Given the description of an element on the screen output the (x, y) to click on. 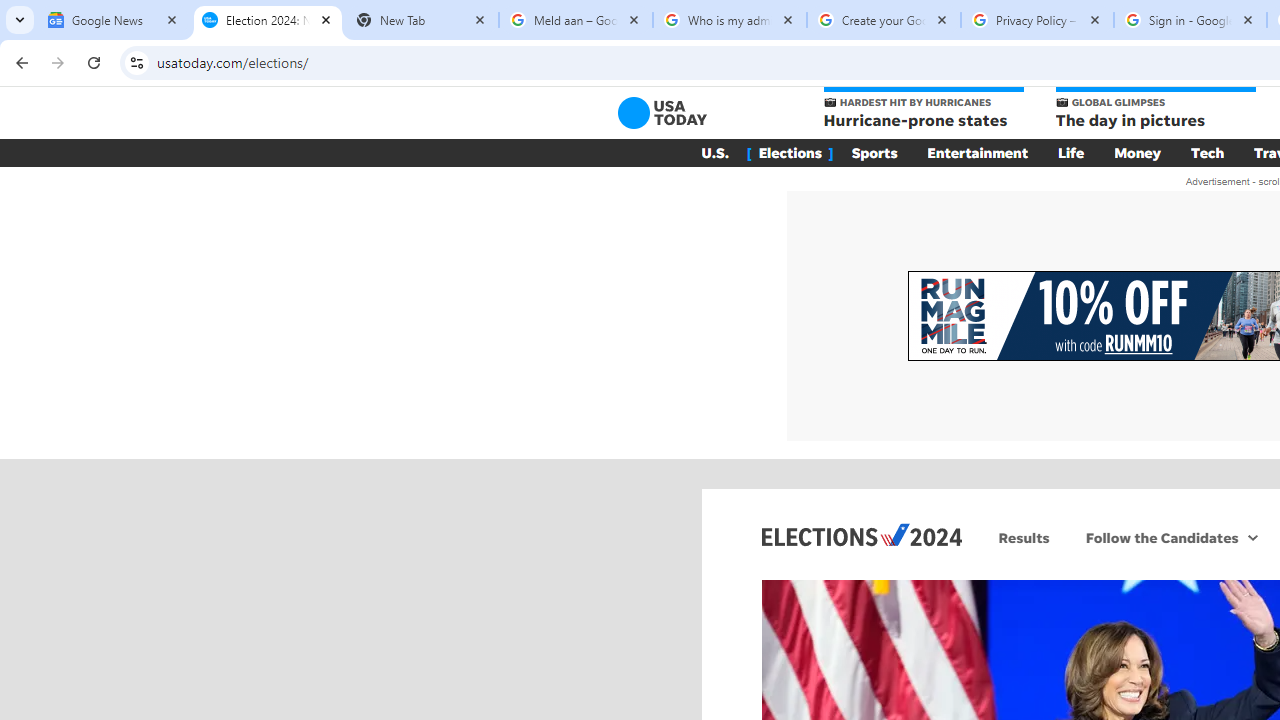
Tech (1207, 152)
New Tab (421, 20)
USA TODAY (661, 112)
U.S. (714, 152)
Results (1024, 537)
Who is my administrator? - Google Account Help (729, 20)
